Given the description of an element on the screen output the (x, y) to click on. 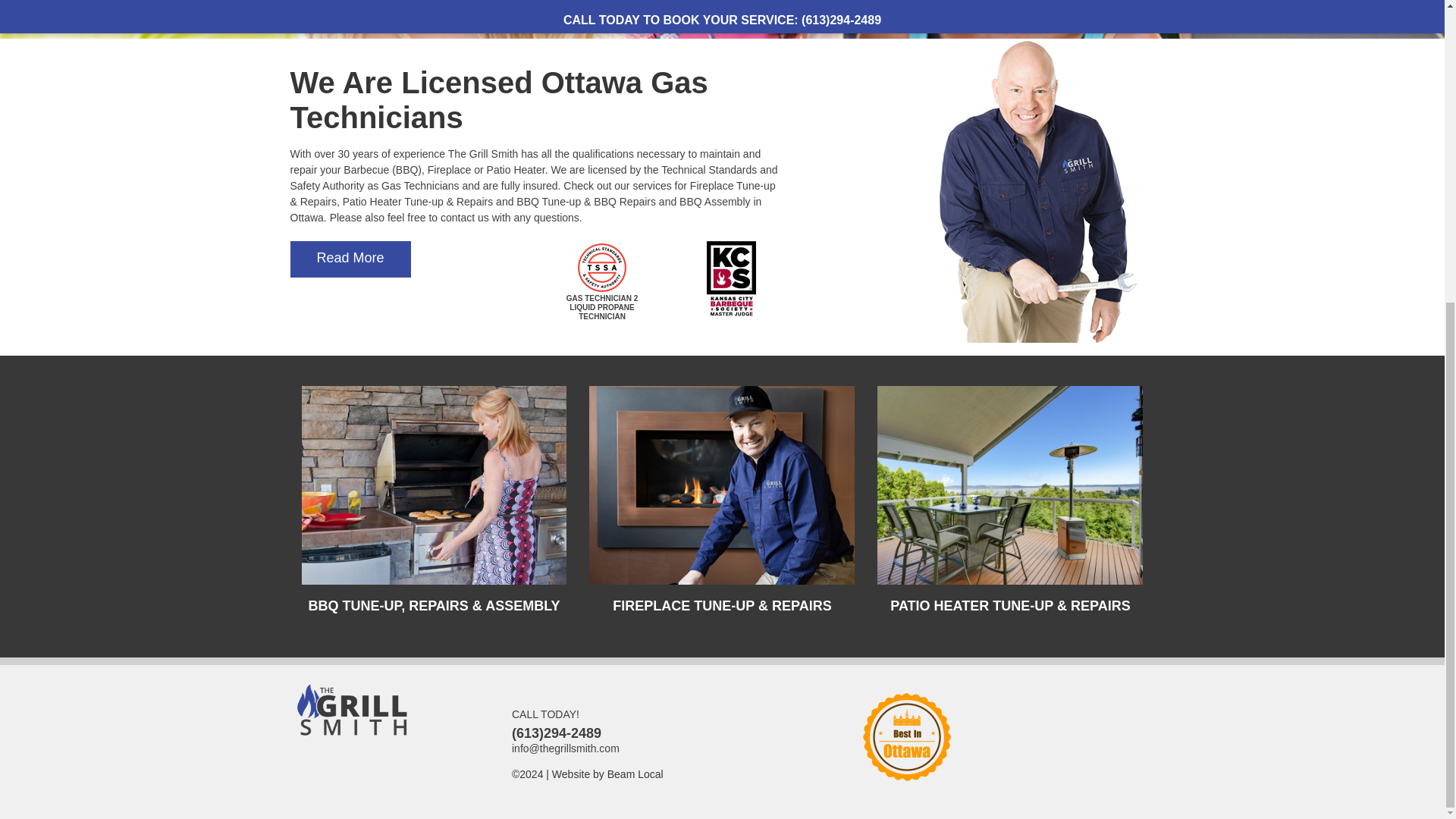
contact us (465, 217)
Contact Us (465, 217)
Beam Local (635, 774)
Read More (349, 258)
